Given the description of an element on the screen output the (x, y) to click on. 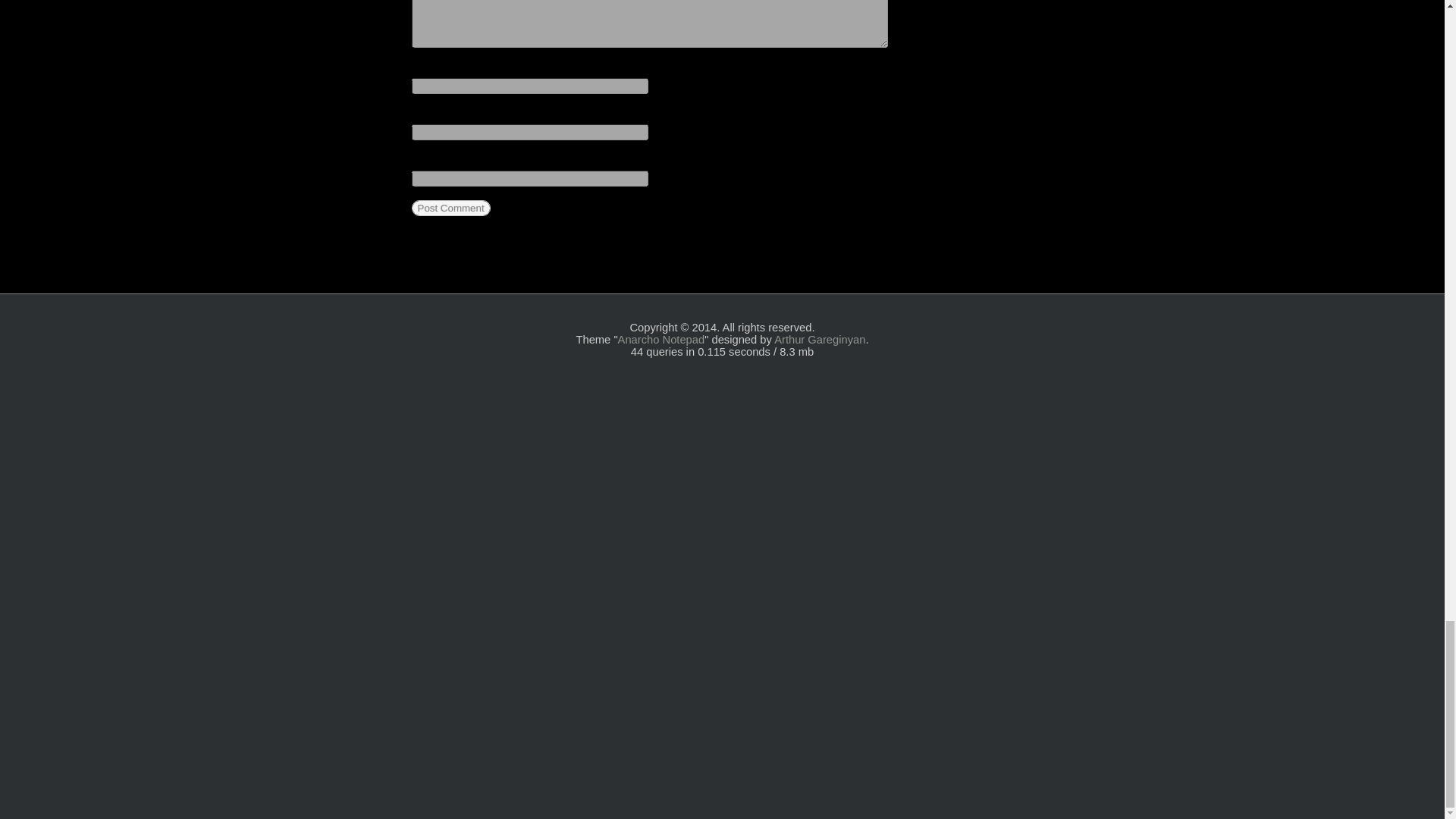
Theme author (819, 339)
Arthur Gareginyan (819, 339)
Theme page (660, 339)
Post Comment (449, 207)
Anarcho Notepad (660, 339)
Post Comment (449, 207)
